Given the description of an element on the screen output the (x, y) to click on. 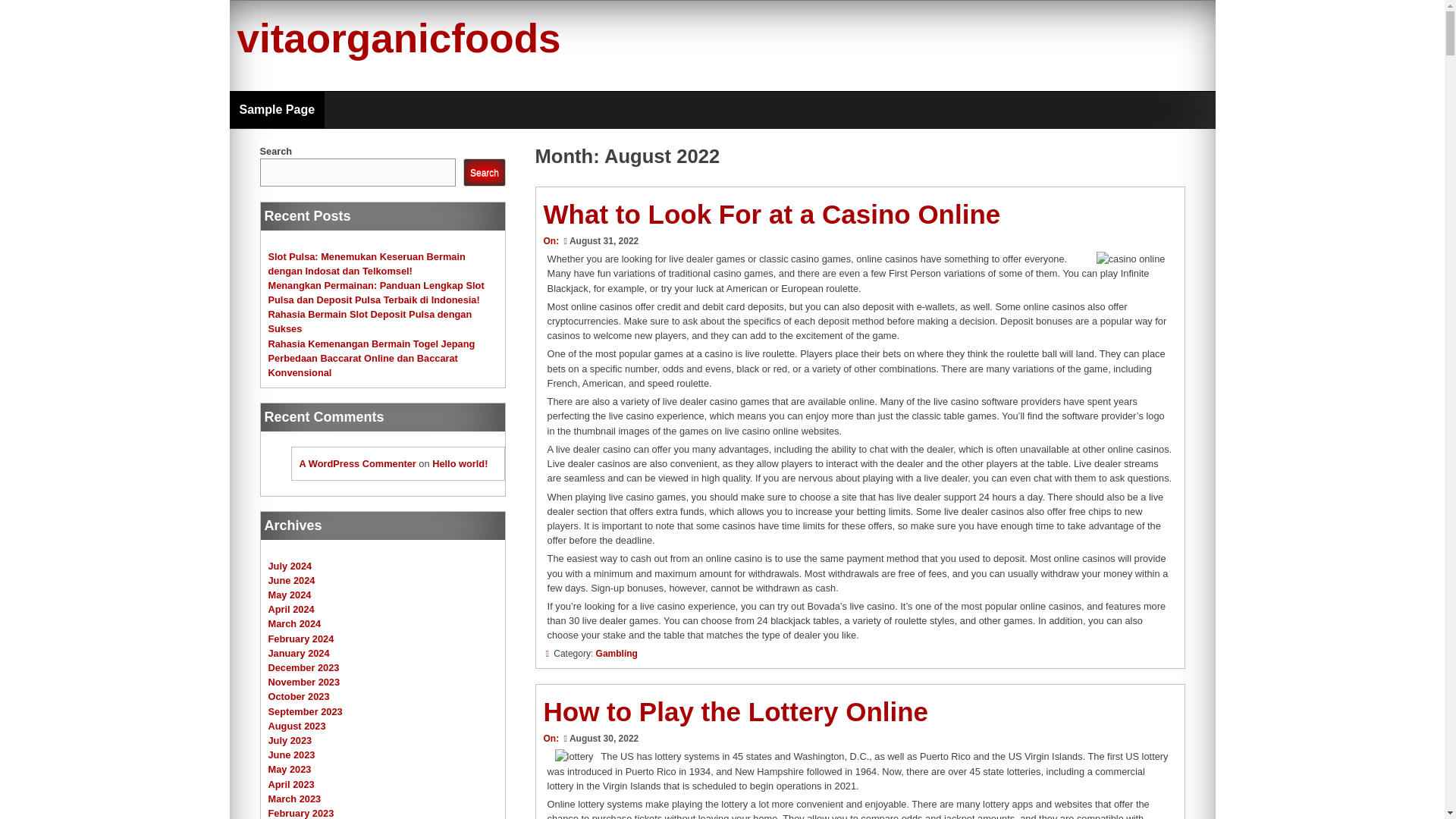
How to Play the Lottery Online (735, 711)
August 31, 2022 (599, 240)
Gambling (616, 653)
What to Look For at a Casino Online (771, 214)
August 30, 2022 (599, 738)
Sample Page (276, 109)
vitaorganicfoods (397, 37)
